Given the description of an element on the screen output the (x, y) to click on. 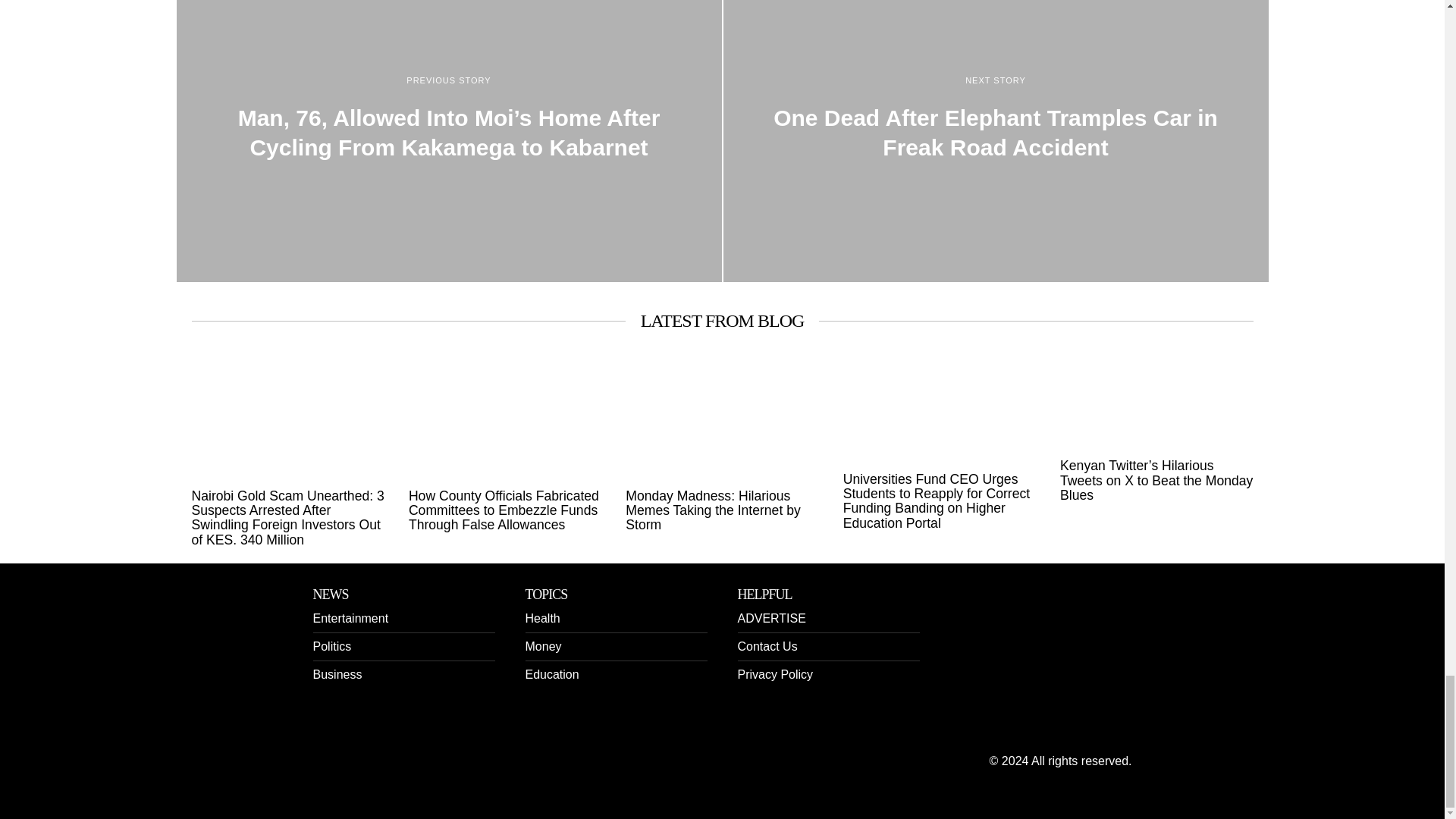
Business (337, 674)
Health (541, 617)
Politics (331, 645)
Entertainment (350, 617)
Monday Madness: Hilarious Memes Taking the Internet by Storm (722, 510)
